Given the description of an element on the screen output the (x, y) to click on. 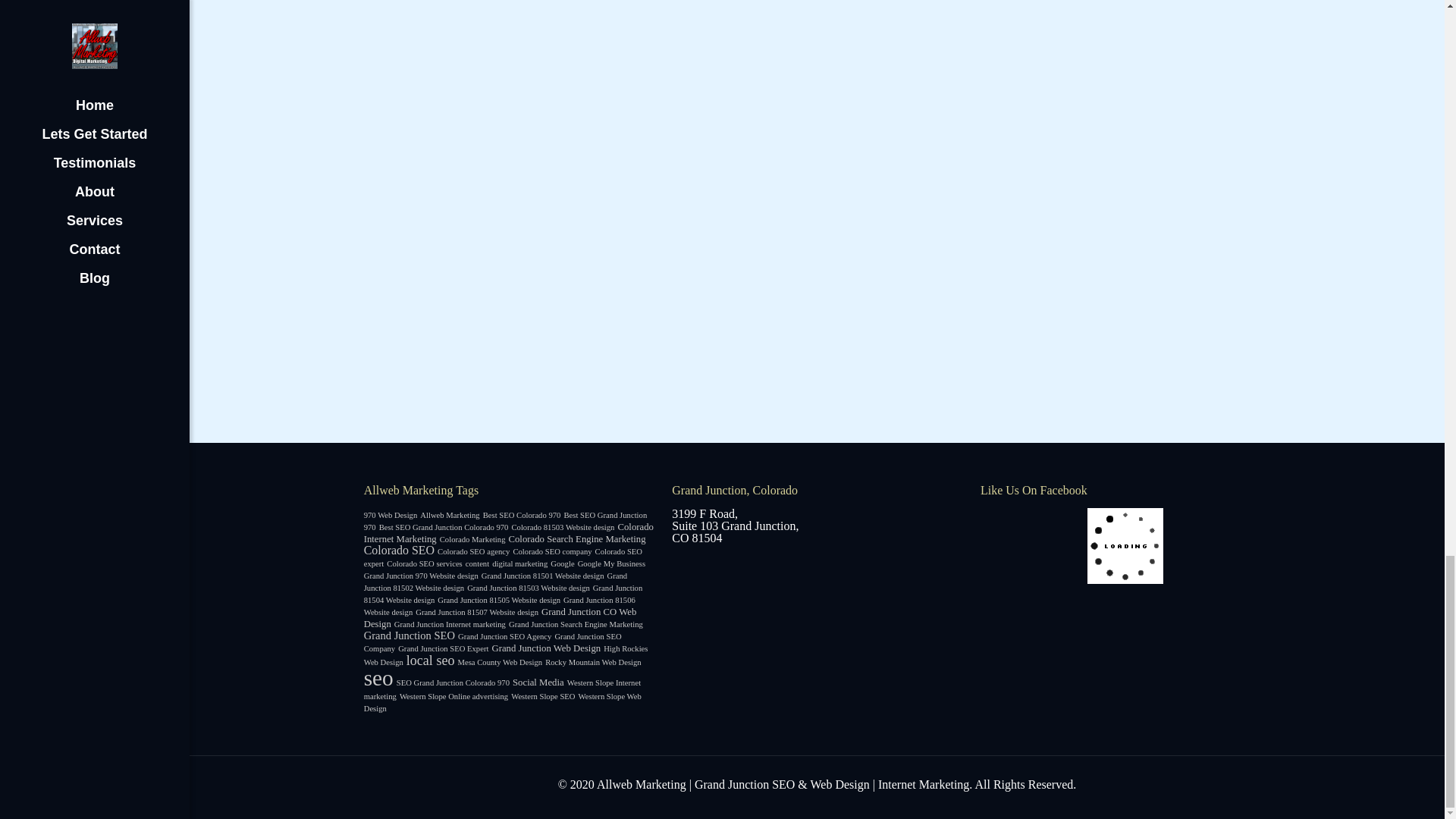
970 Web Design (390, 515)
Best SEO Grand Junction Colorado 970 (443, 527)
Allweb Marketing (449, 515)
Best SEO Grand Junction 970 (505, 521)
Colorado 81503 Website design (562, 527)
Best SEO Colorado 970 (521, 515)
